Given the description of an element on the screen output the (x, y) to click on. 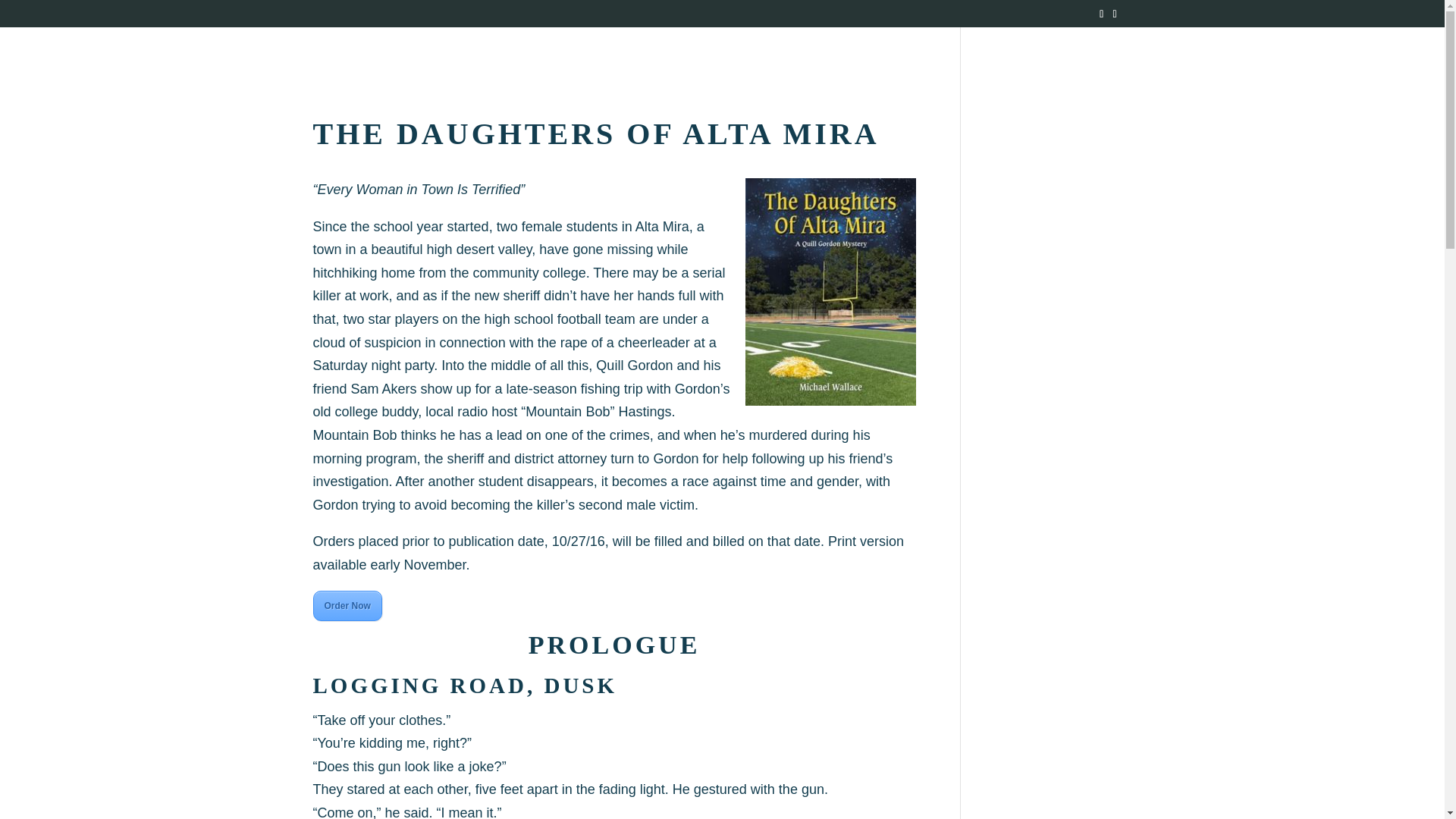
THE BOOK (623, 55)
Order Now (347, 604)
THE SERIES (814, 55)
THE AUTHOR (716, 55)
